Given the description of an element on the screen output the (x, y) to click on. 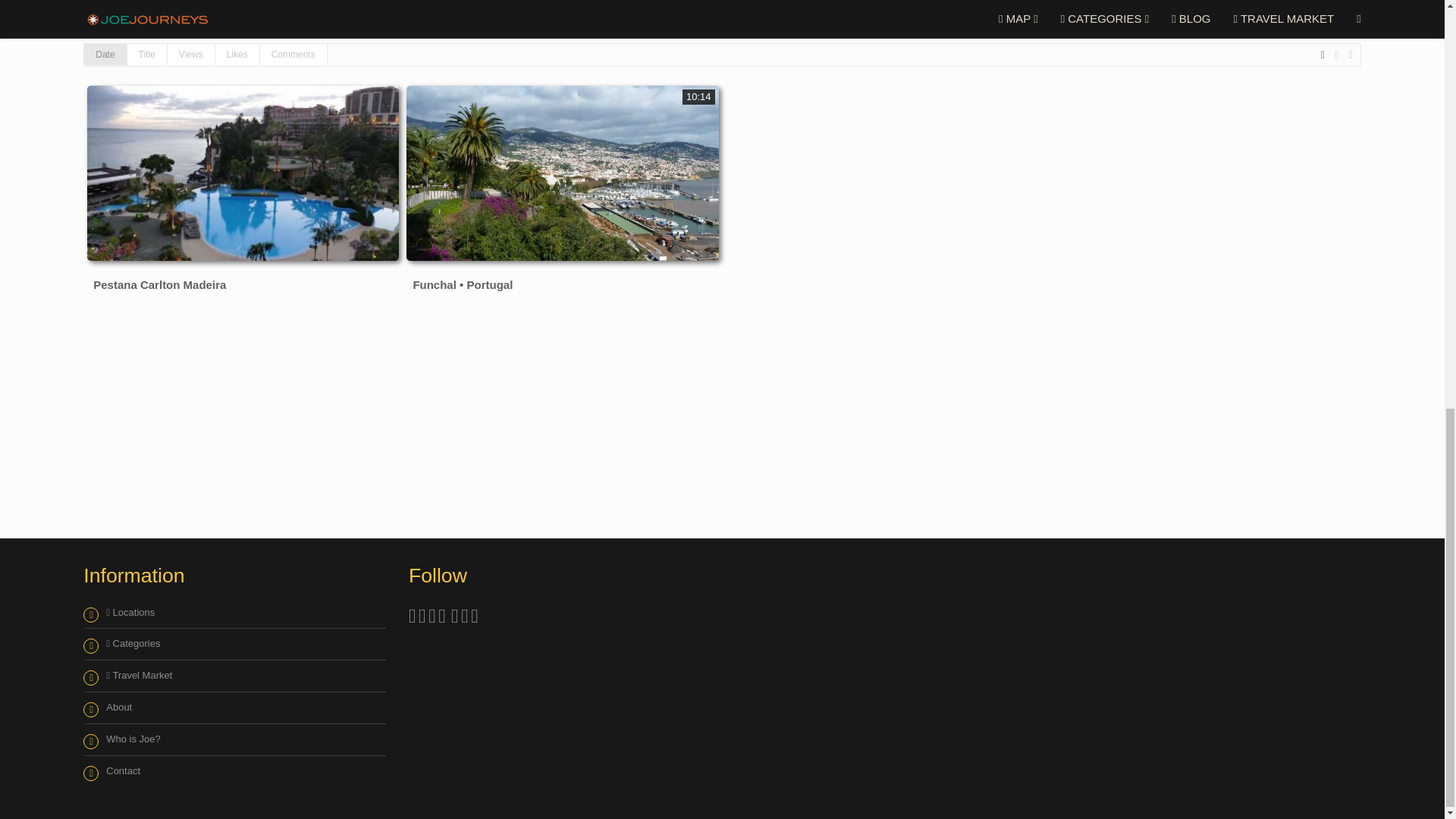
Europe (122, 2)
Portugal (209, 2)
Date (105, 54)
Pestana Carlton Madeira (159, 284)
Title (146, 54)
Madeira (296, 2)
